Given the description of an element on the screen output the (x, y) to click on. 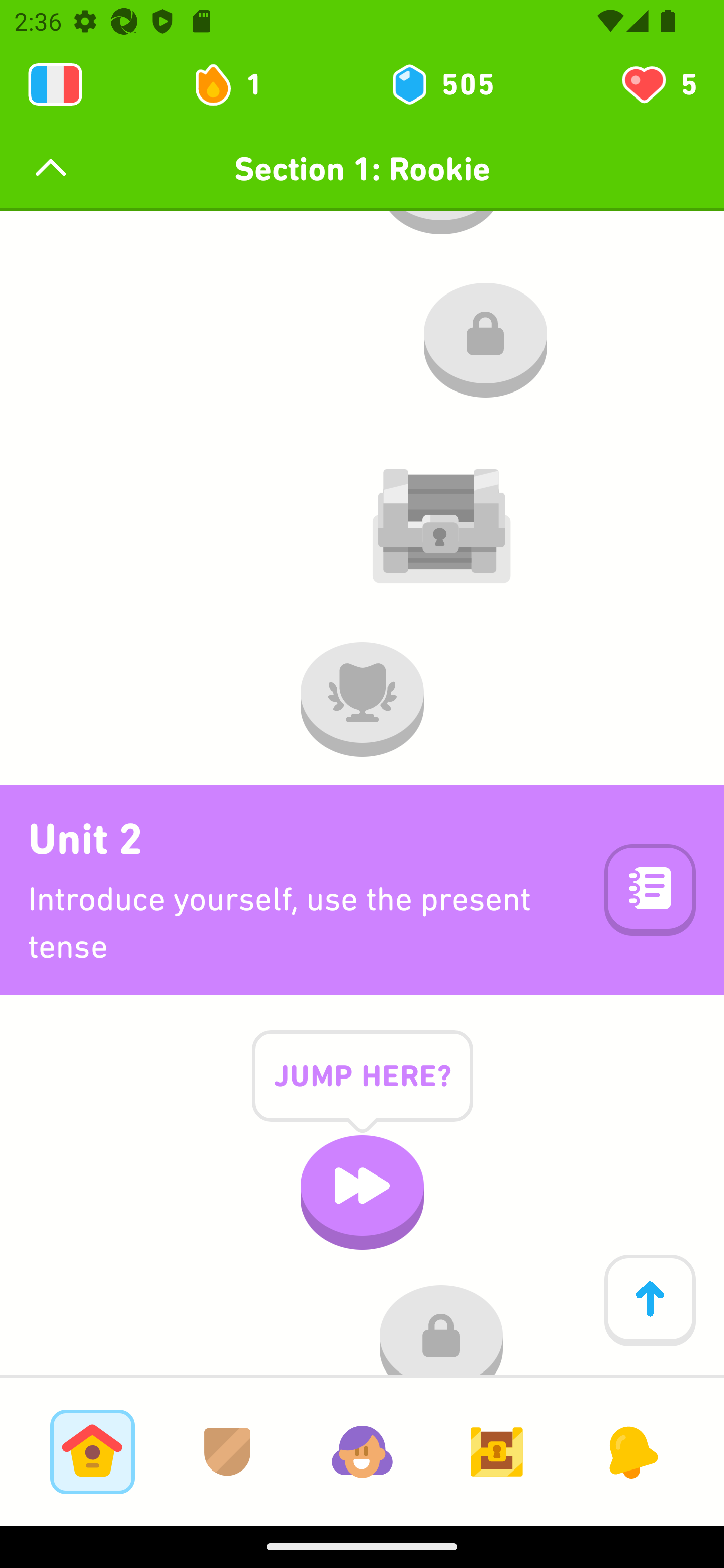
Learning 2131888976 (55, 84)
1 day streak 1 (236, 84)
505 (441, 84)
You have 5 hearts left 5 (657, 84)
Section 1: Rookie (362, 169)
JUMP HERE? (361, 1091)
Learn Tab (91, 1451)
Leagues Tab (227, 1451)
Profile Tab (361, 1451)
Goals Tab (496, 1451)
News Tab (631, 1451)
